Given the description of an element on the screen output the (x, y) to click on. 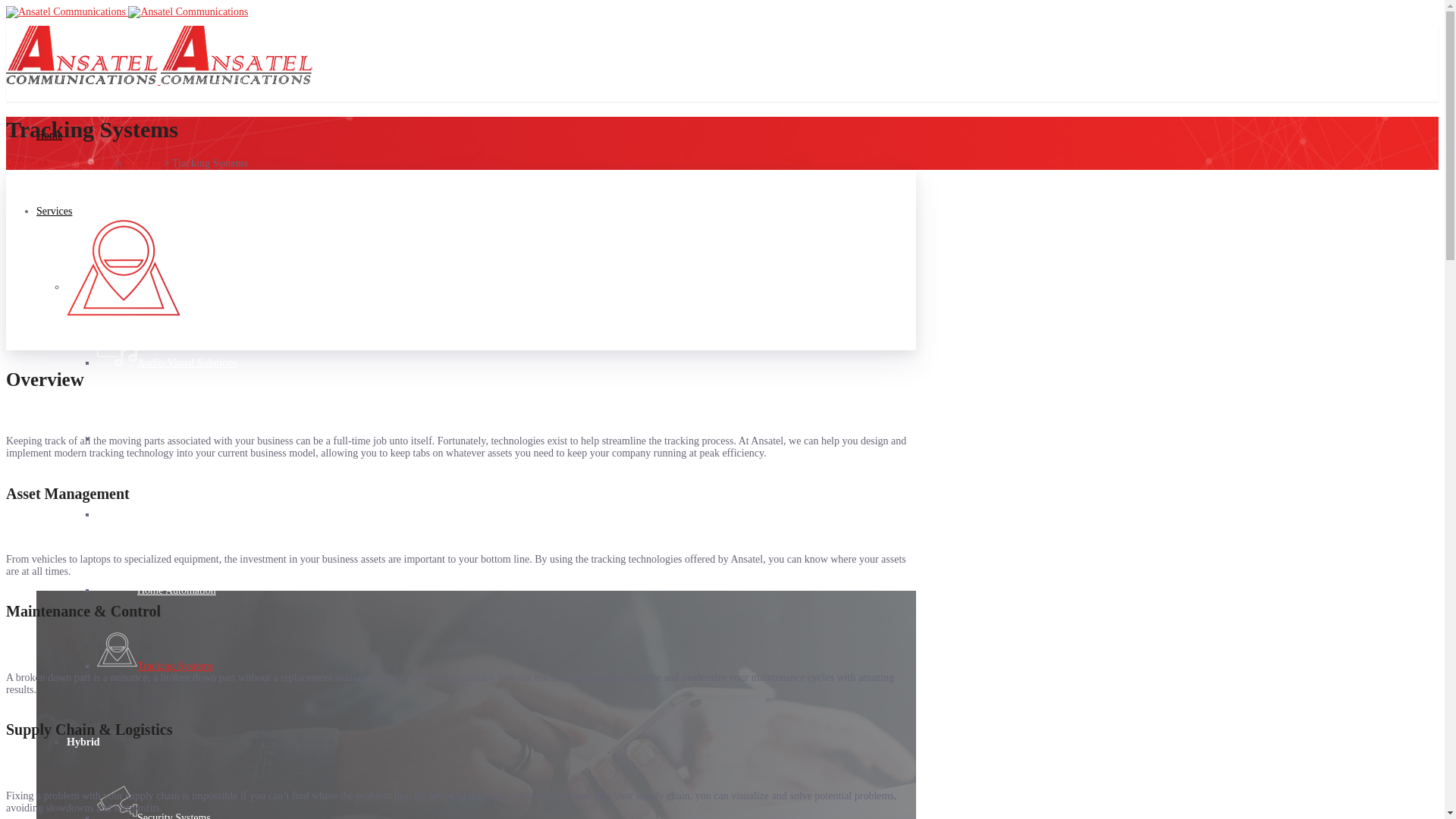
Home Element type: text (49, 135)
Ansatel Communications Element type: text (59, 163)
On-Site Element type: text (83, 286)
Home Automation Element type: text (156, 590)
Audio-Visual Solutions Element type: text (167, 362)
Hybrid Element type: text (83, 741)
Services Element type: text (142, 163)
Tracking Systems Element type: text (155, 665)
Services Element type: text (54, 210)
Cable Installation Element type: text (154, 514)
Business Internet Element type: text (153, 438)
